Given the description of an element on the screen output the (x, y) to click on. 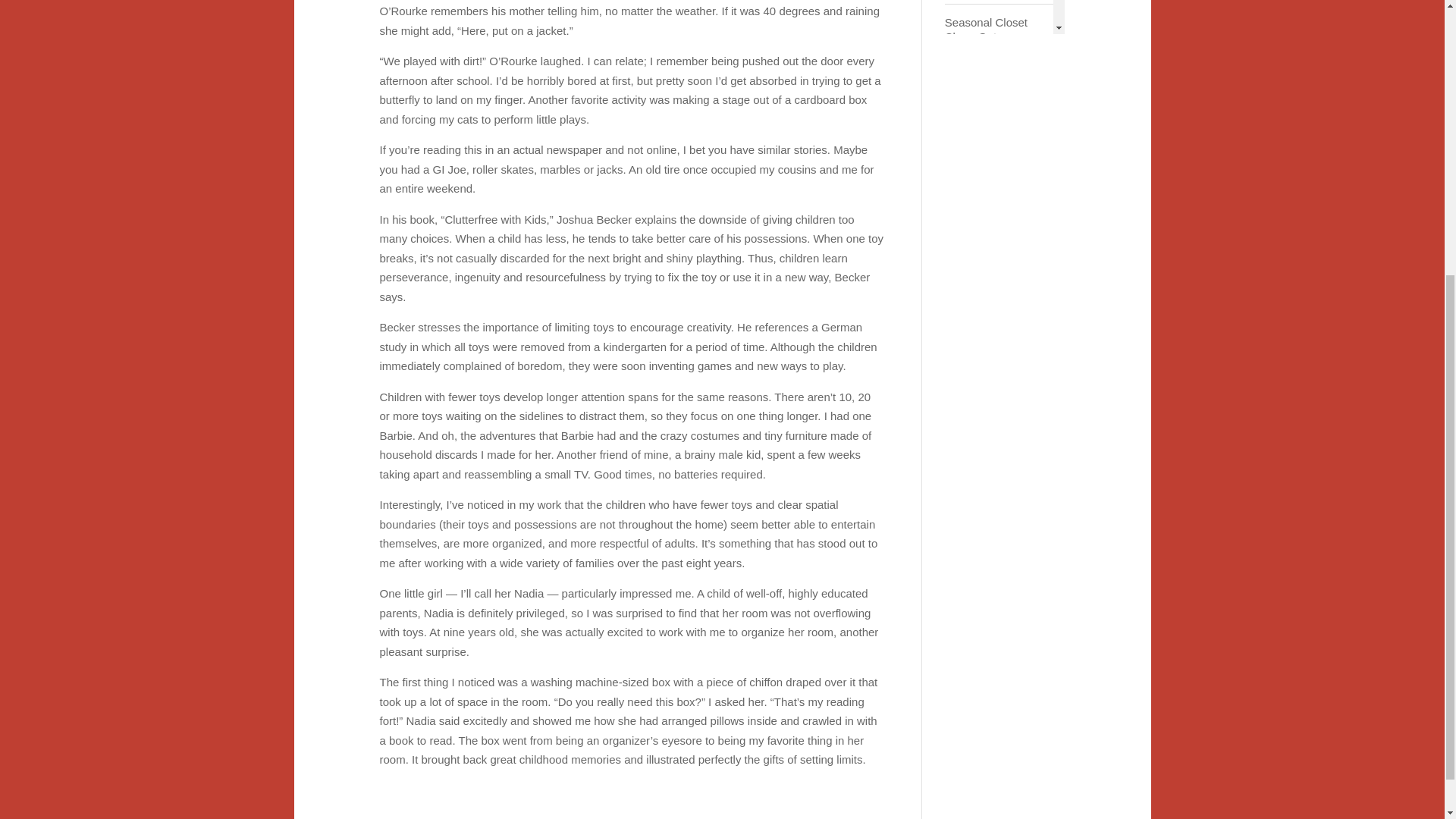
From Clutter to Tableau (999, 211)
Essential Organizing Supplies (999, 89)
What the Garden Taught Me (999, 150)
Long Term Organizing Systems (999, 598)
Seasonal Closet Clean-Out (999, 27)
Party Planning (999, 544)
The 2024 Desk Situation (999, 443)
The Rewards of a Bad Habit Fast (999, 320)
Invisible Clutter (999, 714)
End of Year Gathering (999, 660)
Yes You Can! (999, 497)
Leave Some Slack (999, 761)
The Perils of Over-Organization (999, 382)
Good Manners (999, 266)
